Given the description of an element on the screen output the (x, y) to click on. 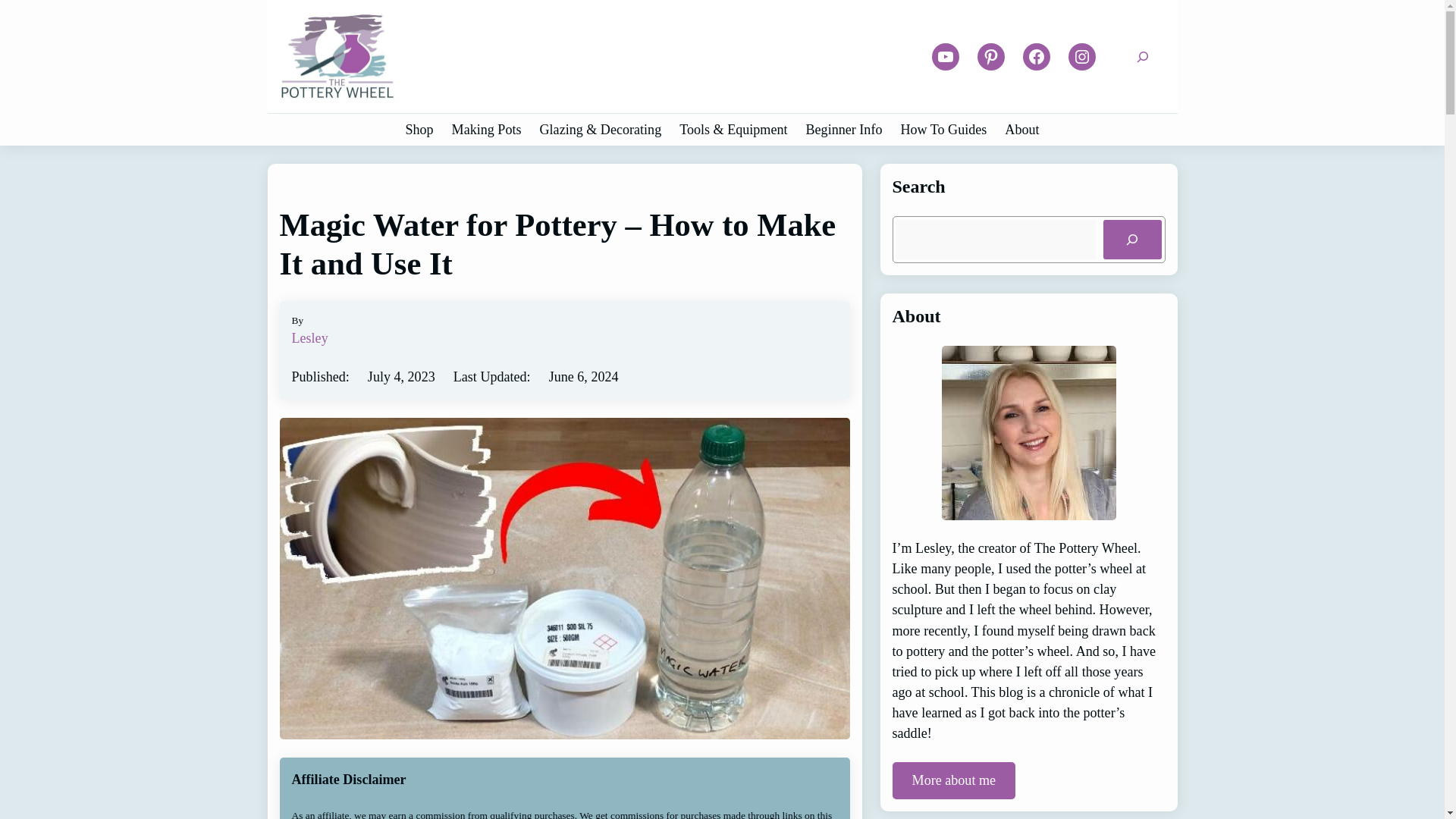
Instagram (1082, 55)
About (1021, 130)
Beginner Info (844, 130)
YouTube (945, 55)
Making Pots (486, 130)
Facebook (1036, 55)
How To Guides (943, 130)
Lesley (309, 337)
Shop (418, 130)
Pinterest (990, 55)
